Given the description of an element on the screen output the (x, y) to click on. 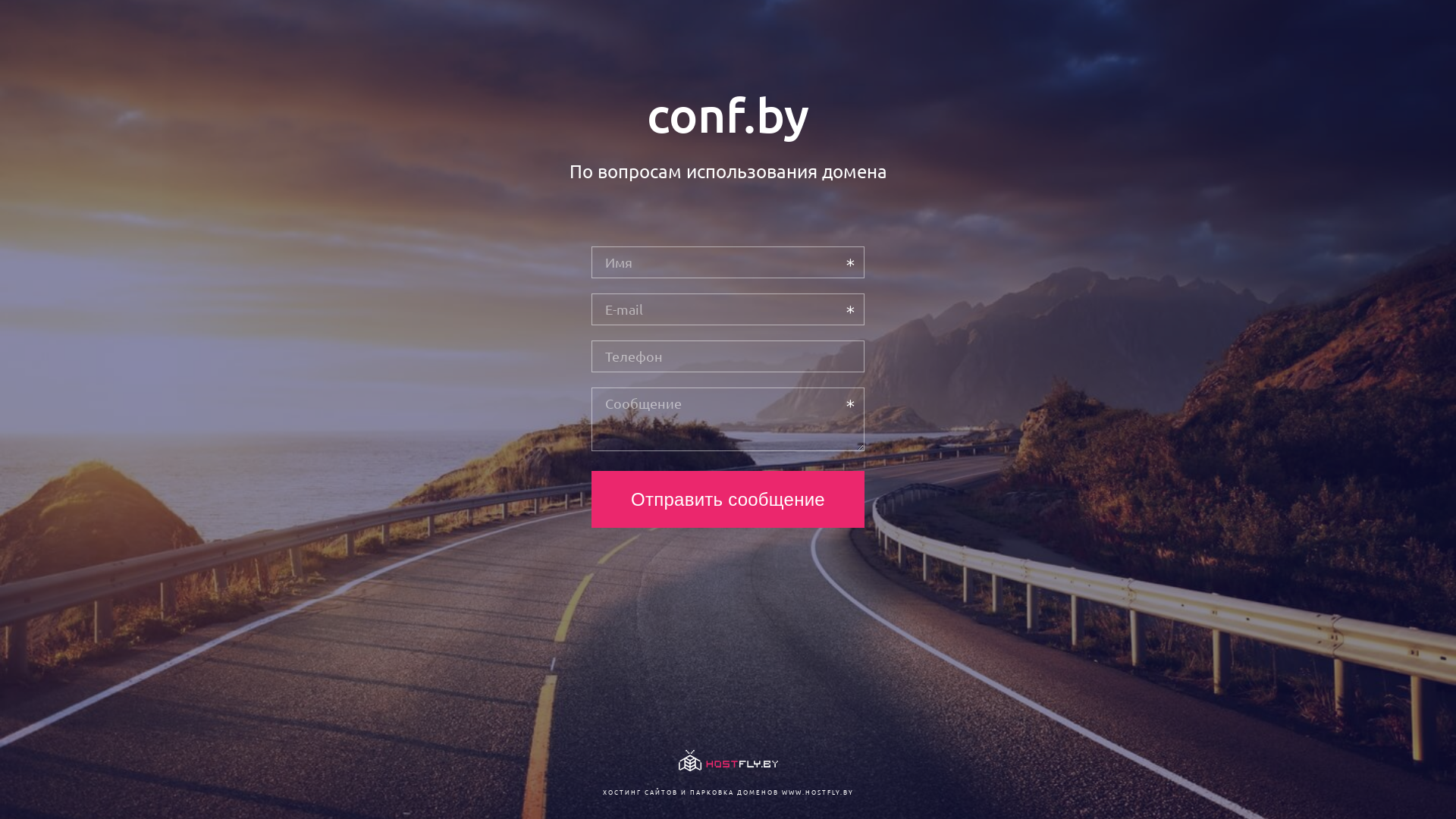
WWW.HOSTFLY.BY Element type: text (817, 791)
